Given the description of an element on the screen output the (x, y) to click on. 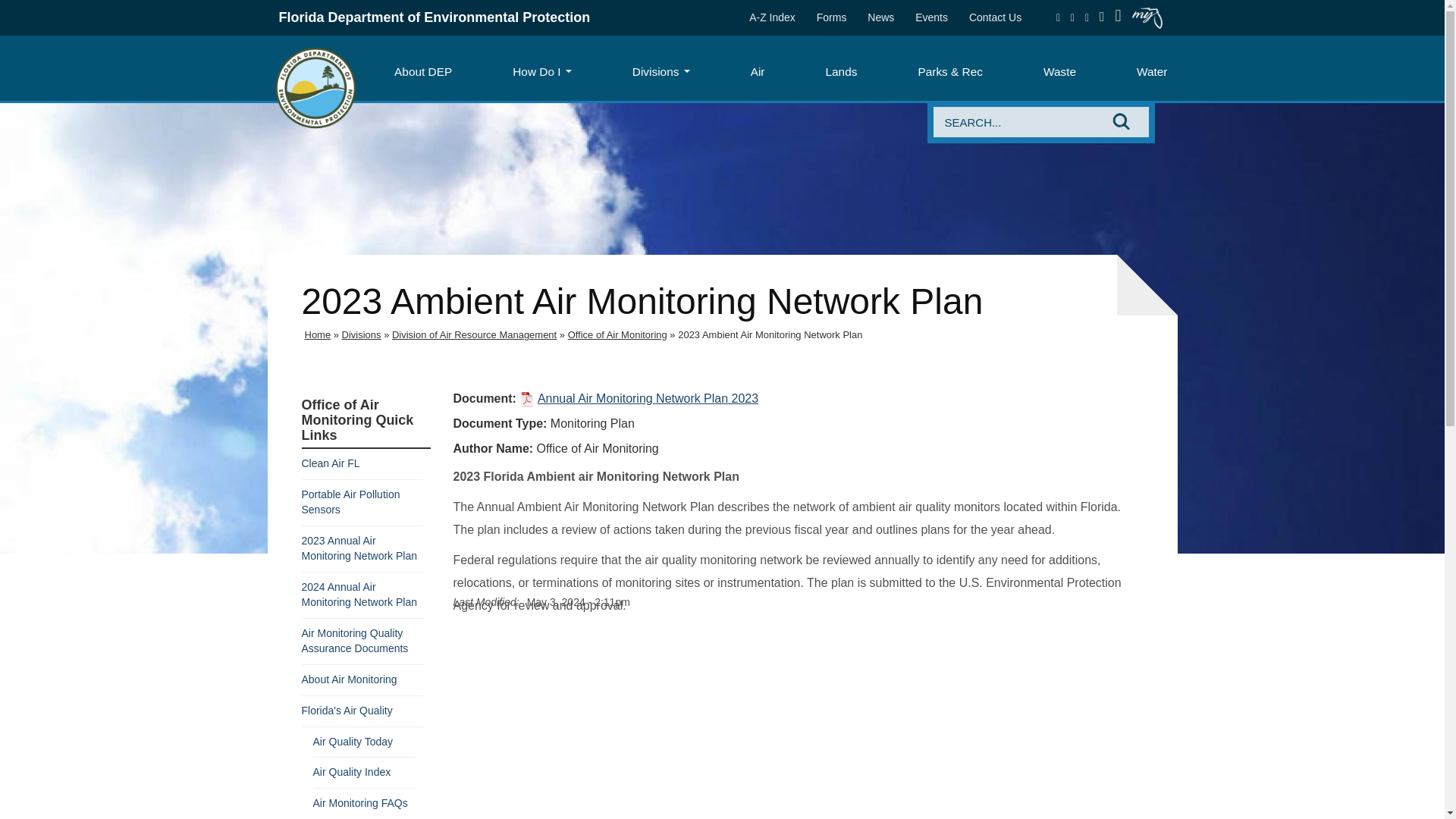
Connect with DEP on LinkedIn (1102, 17)
Forms (832, 17)
Water (1151, 71)
Skip to main content (63, 15)
Florida Department of Environmental Protection (435, 17)
Connect with DEP on Facebook (1058, 17)
Search (1021, 122)
A-Z Index (772, 17)
How Do I (541, 71)
Connect with DEP on Twitter (1072, 17)
MyFlorida.com (1147, 17)
Connect with DEP on Instagram (1087, 17)
Contact Us (994, 17)
Lands Topics (840, 71)
Events (930, 17)
